Given the description of an element on the screen output the (x, y) to click on. 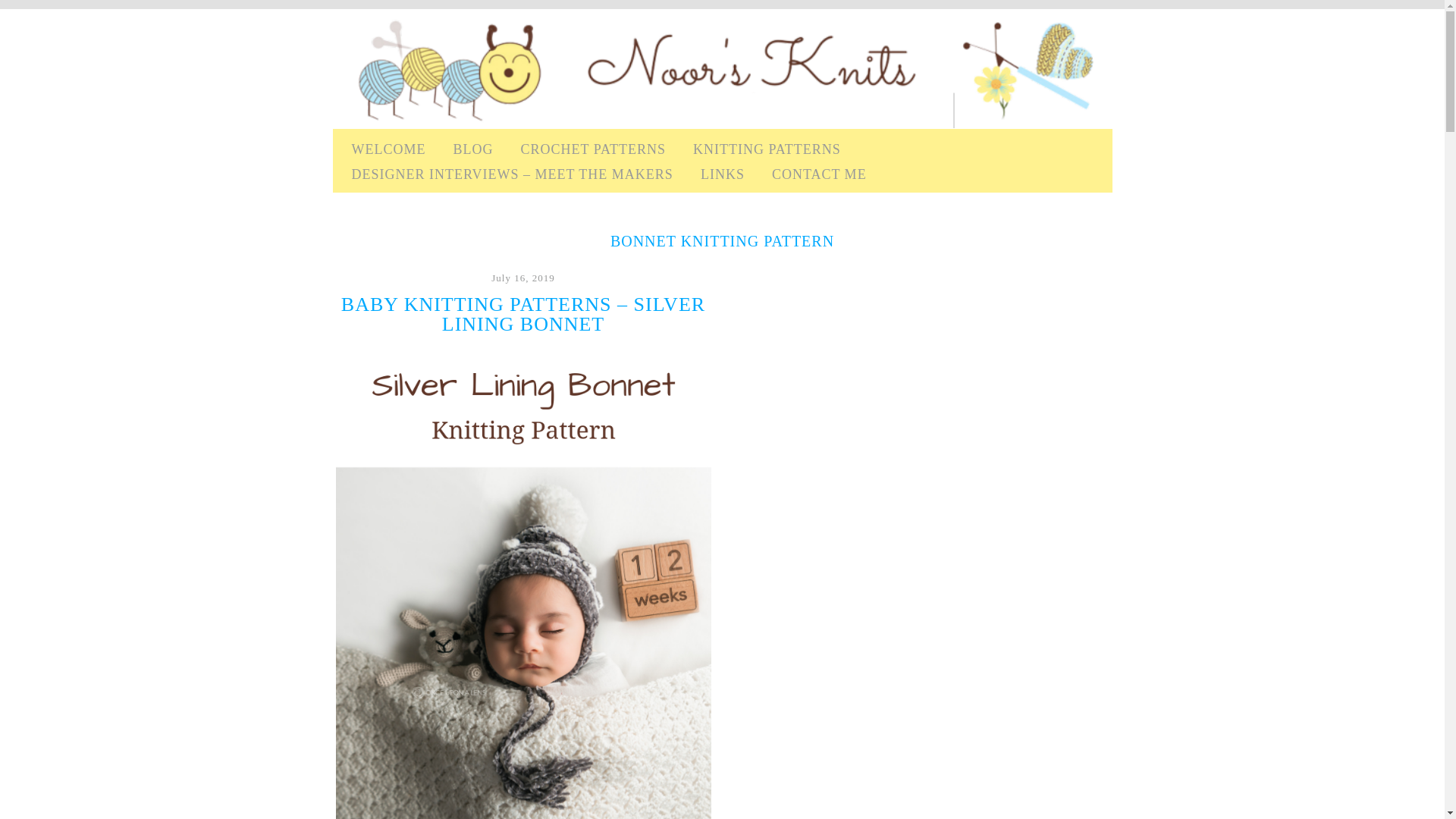
WELCOME (389, 149)
CROCHET PATTERNS (592, 149)
LINKS (722, 174)
July 16, 2019 (523, 277)
BLOG (472, 149)
KNITTING PATTERNS (767, 149)
NOOR'S KNITS (392, 37)
CONTACT ME (818, 174)
